Given the description of an element on the screen output the (x, y) to click on. 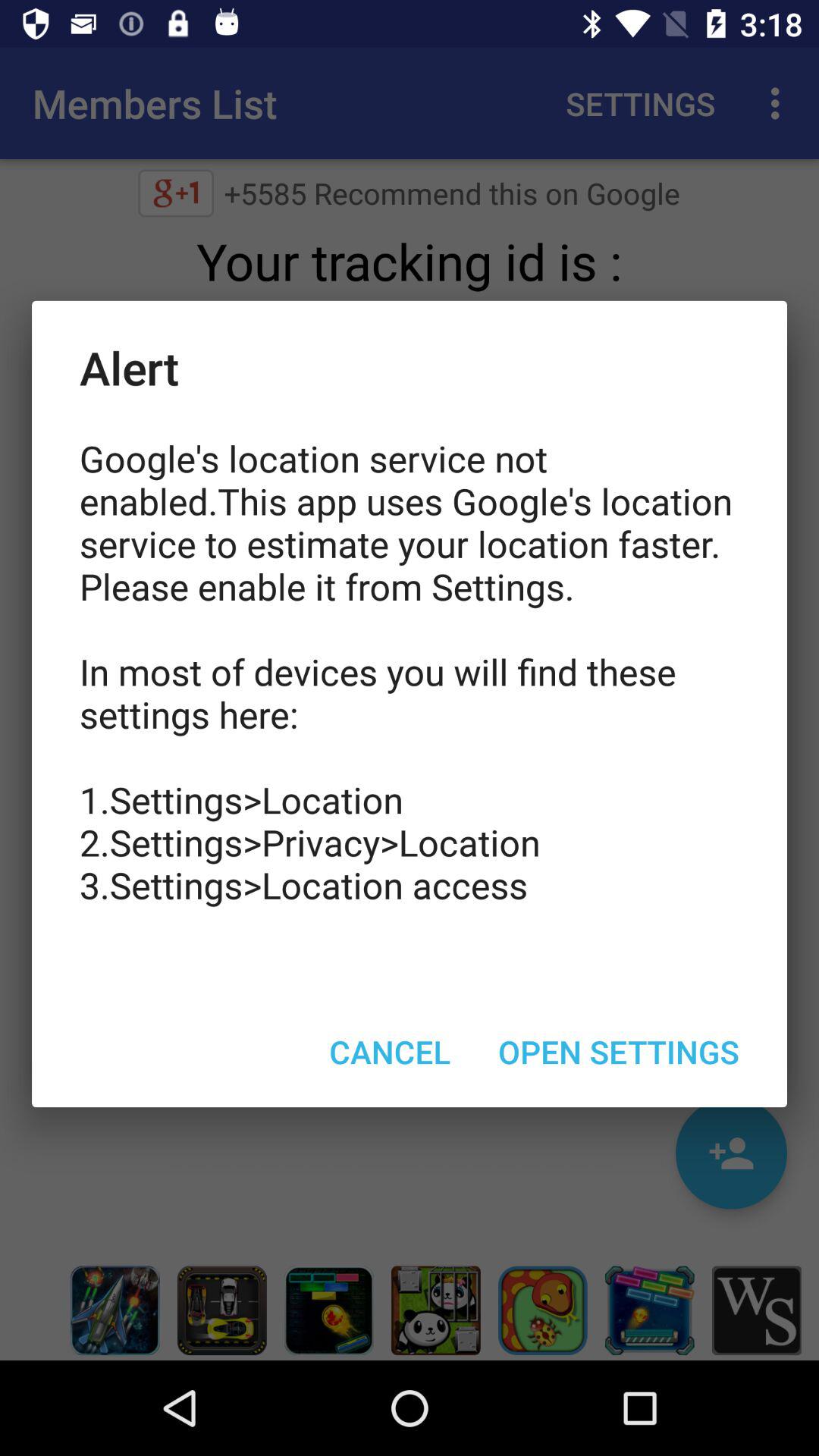
scroll until the cancel item (389, 1051)
